Given the description of an element on the screen output the (x, y) to click on. 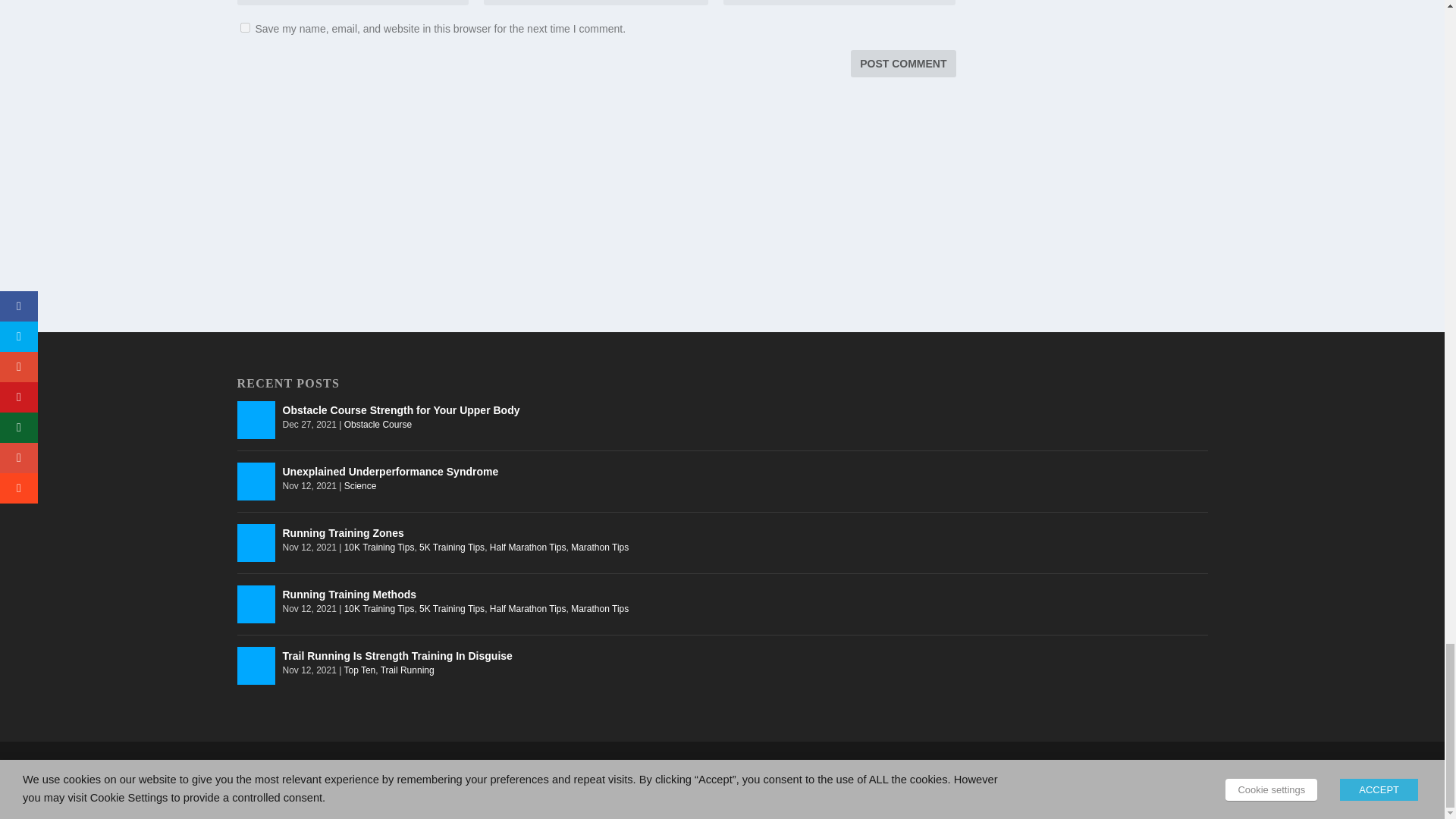
yes (244, 27)
Post Comment (902, 62)
